Given the description of an element on the screen output the (x, y) to click on. 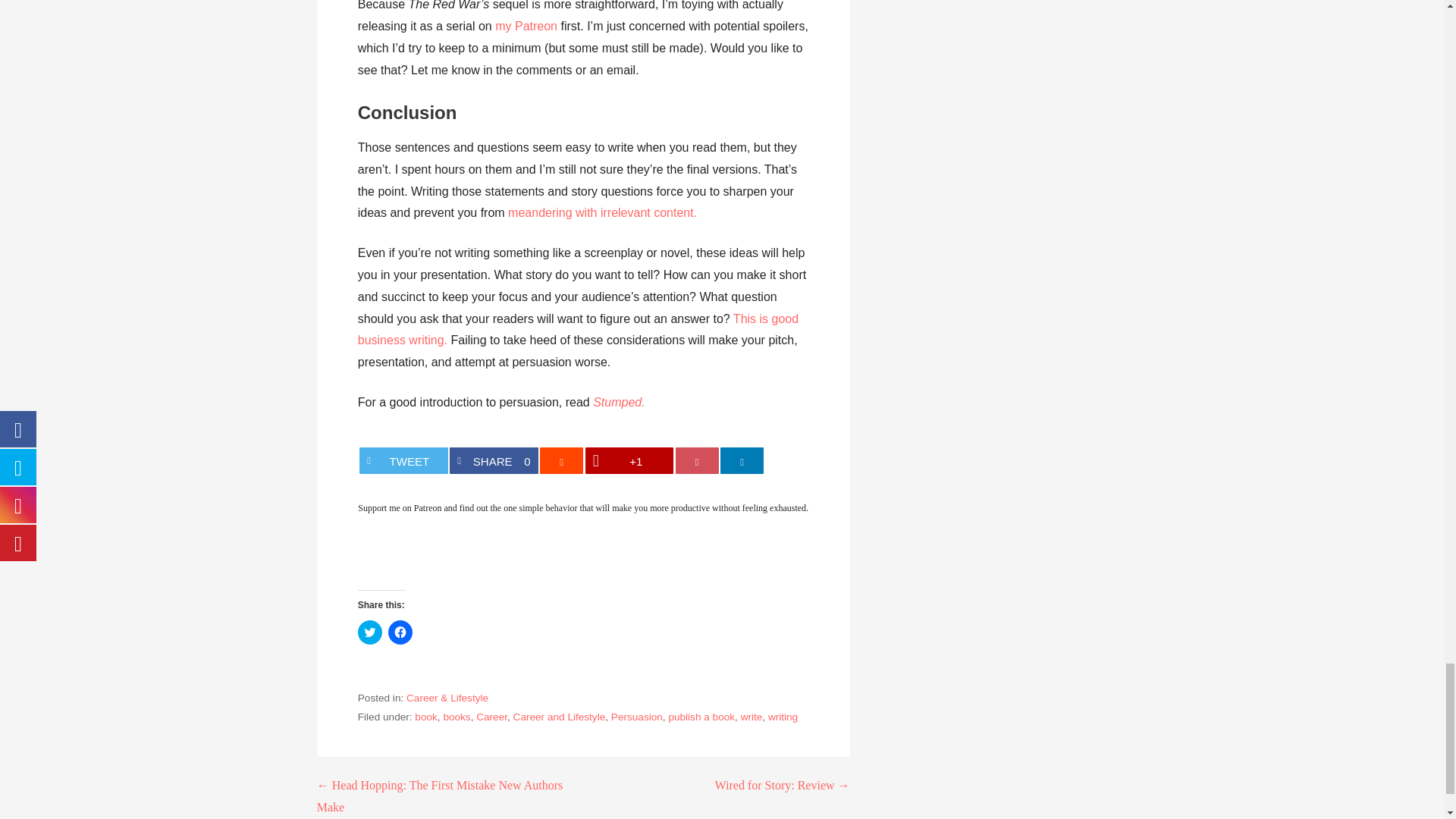
Stumped. (618, 401)
TWEET (402, 460)
my Patreon (526, 25)
Tweet on Twitter (402, 460)
Writing Without Bullshit: Review (577, 329)
Submit to Reddit (561, 460)
meandering with irrelevant content. (602, 212)
Share on Facebook (493, 460)
This is good business writing. (493, 460)
The 5 Simplest Ways to Improve Your Writing Skills (577, 329)
